Given the description of an element on the screen output the (x, y) to click on. 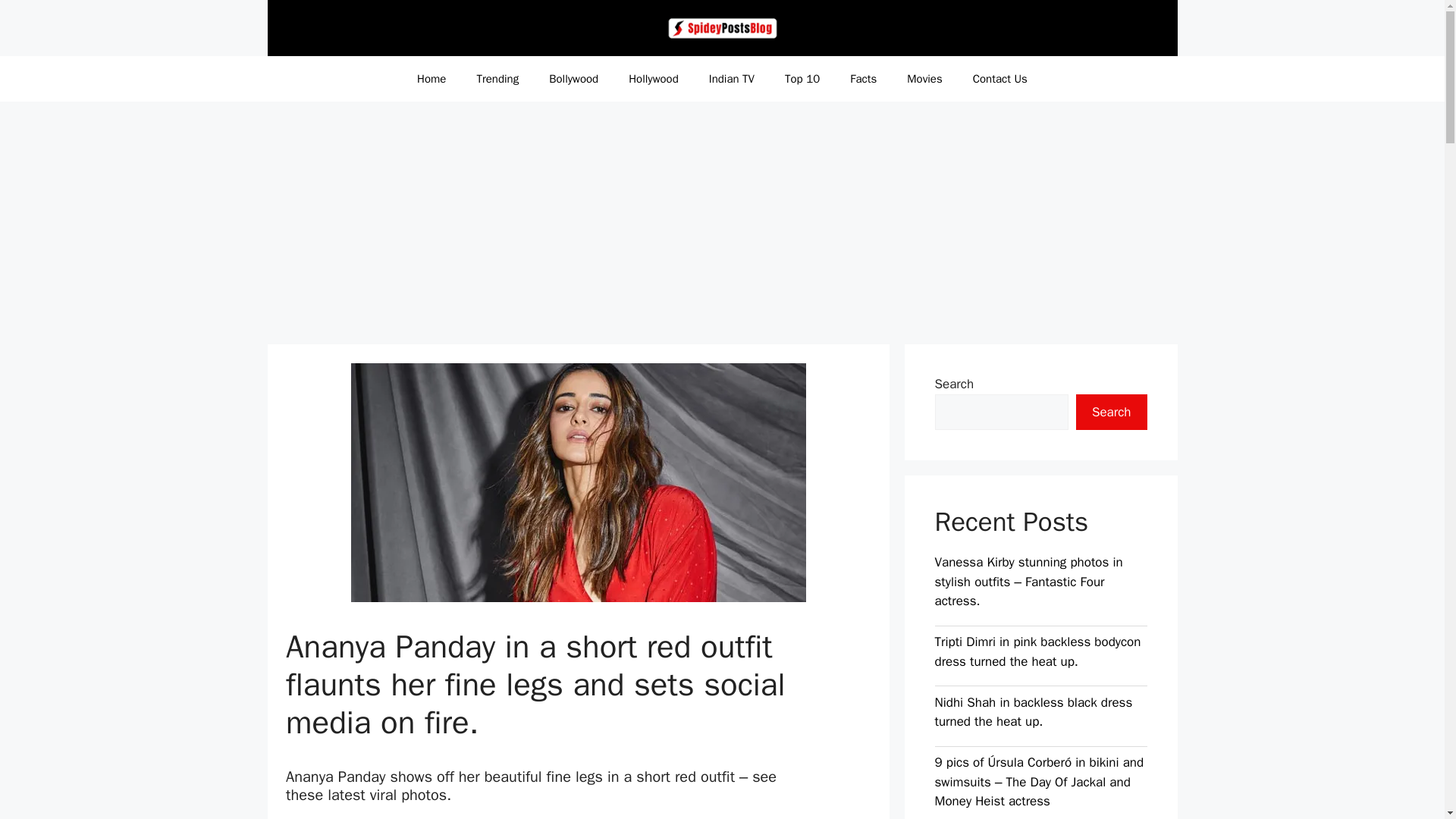
Movies (923, 78)
Hollywood (653, 78)
Contact Us (1000, 78)
Top 10 (802, 78)
Indian TV (732, 78)
Facts (862, 78)
Home (431, 78)
ananya panday red short dress legs (577, 482)
Trending (497, 78)
Bollywood (573, 78)
